Given the description of an element on the screen output the (x, y) to click on. 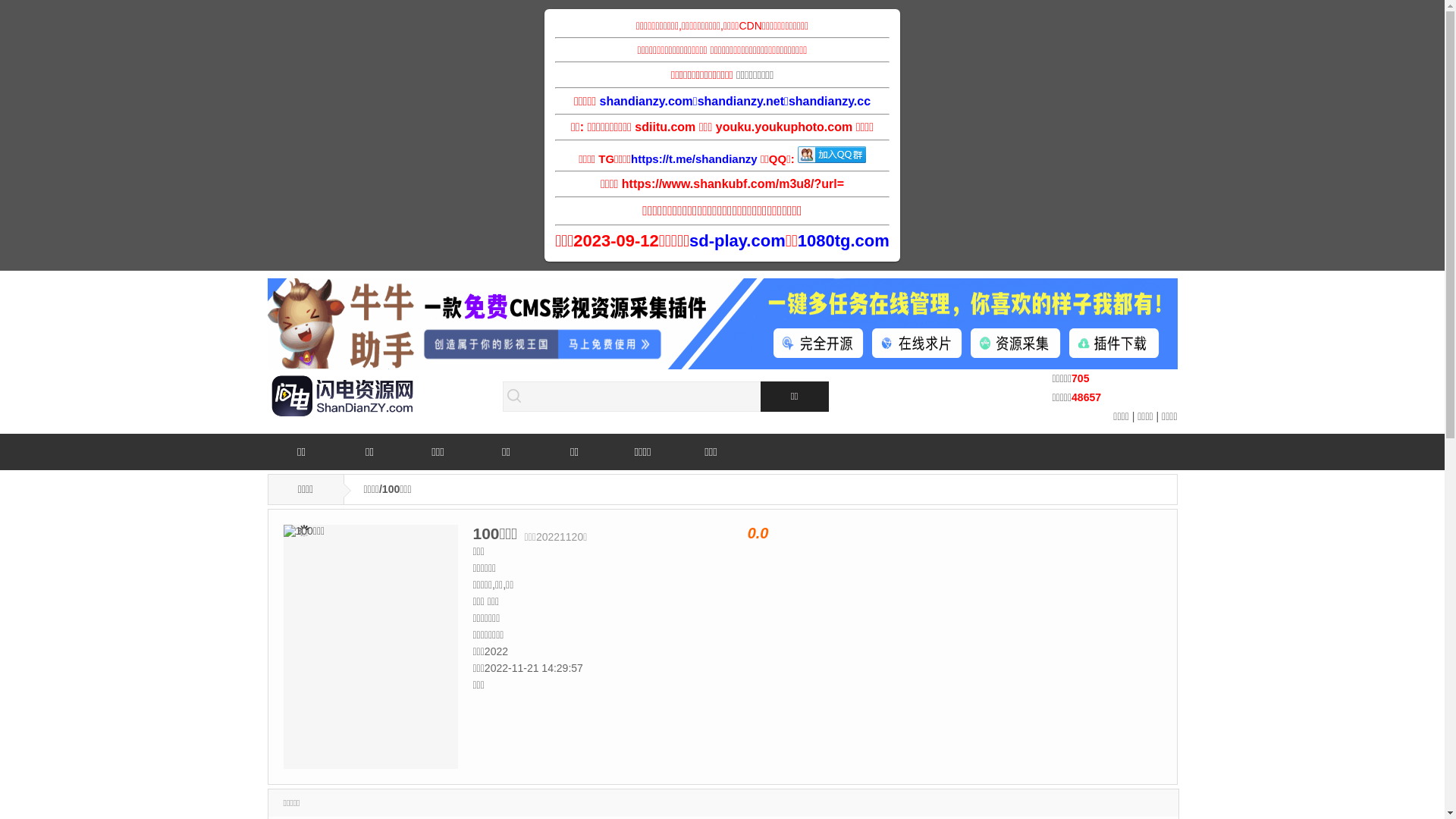
https://t.me/shandianzy Element type: text (695, 158)
